Given the description of an element on the screen output the (x, y) to click on. 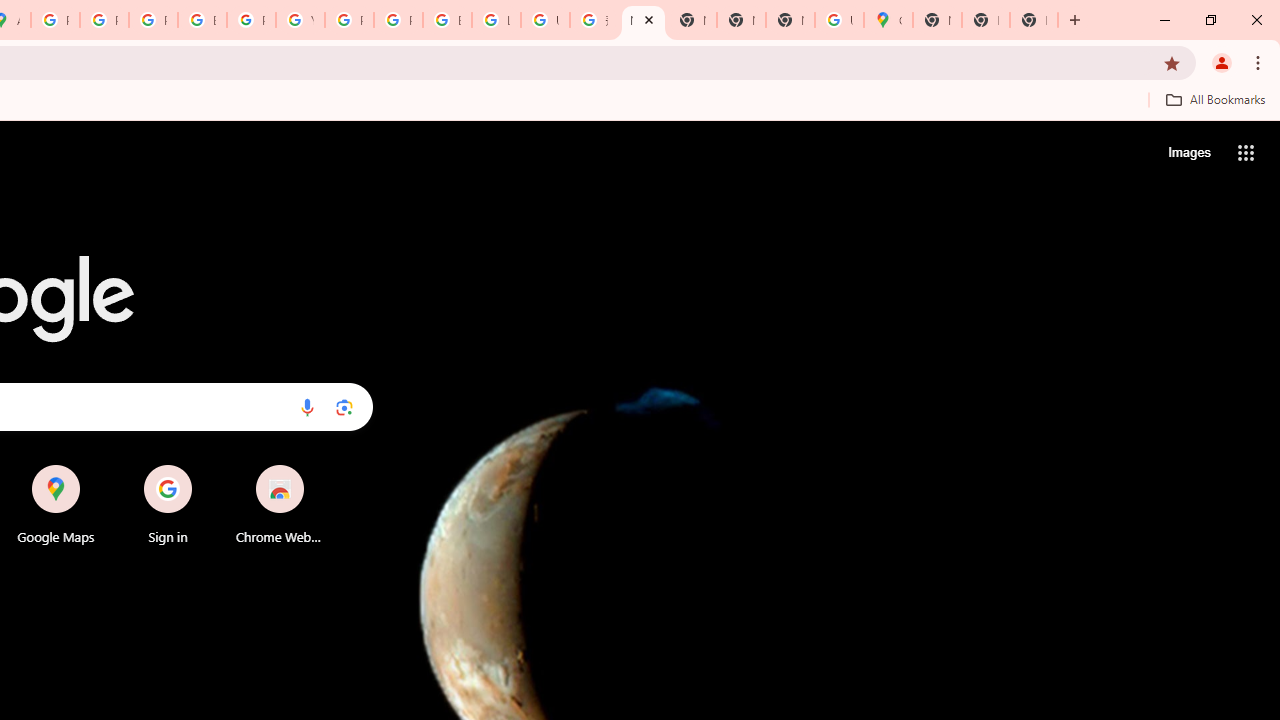
New Tab (937, 20)
Use Google Maps in Space - Google Maps Help (839, 20)
